Given the description of an element on the screen output the (x, y) to click on. 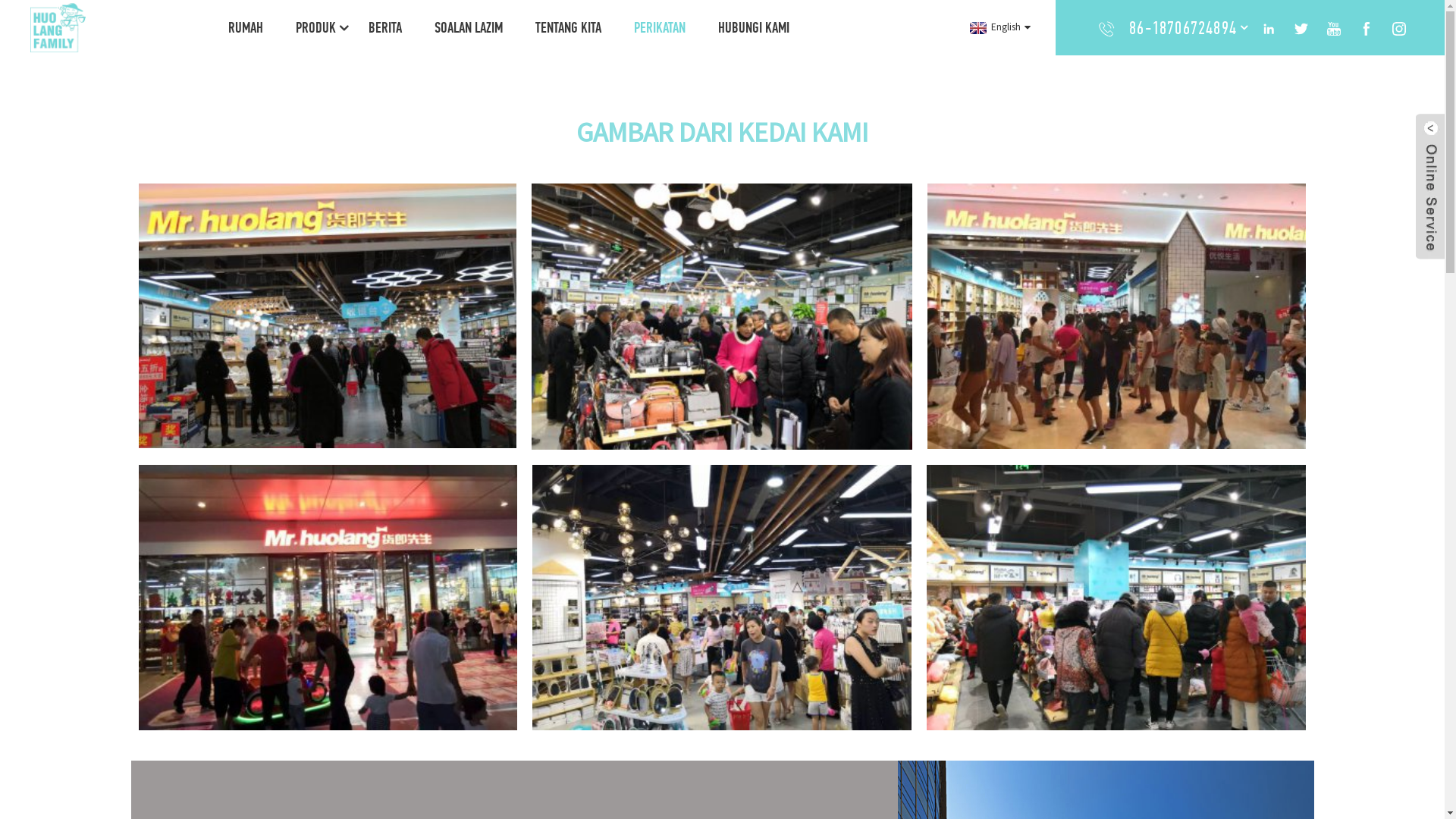
RUMAH Element type: text (245, 26)
SOALAN LAZIM Element type: text (468, 26)
86-18706724894 Element type: text (1182, 27)
BERITA Element type: text (385, 26)
PERIKATAN Element type: text (659, 26)
HUBUNGI KAMI Element type: text (753, 26)
PRODUK Element type: text (315, 26)
TENTANG KITA Element type: text (568, 26)
English Element type: text (998, 27)
86-19858928898 Element type: text (1182, 61)
